Given the description of an element on the screen output the (x, y) to click on. 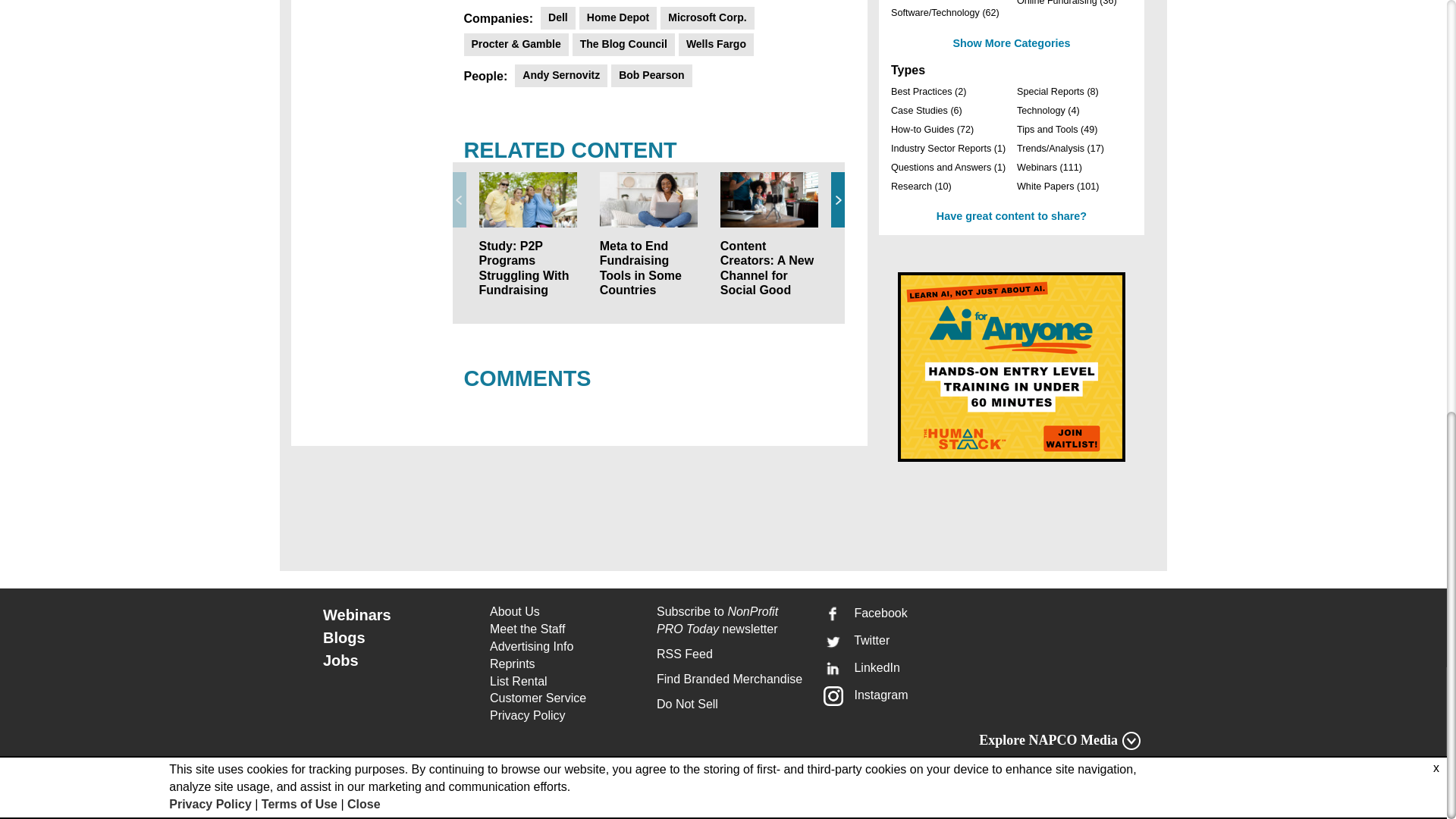
Opens in a new window (564, 698)
3rd party ad content (1011, 366)
Opens in a new window (564, 715)
